Given the description of an element on the screen output the (x, y) to click on. 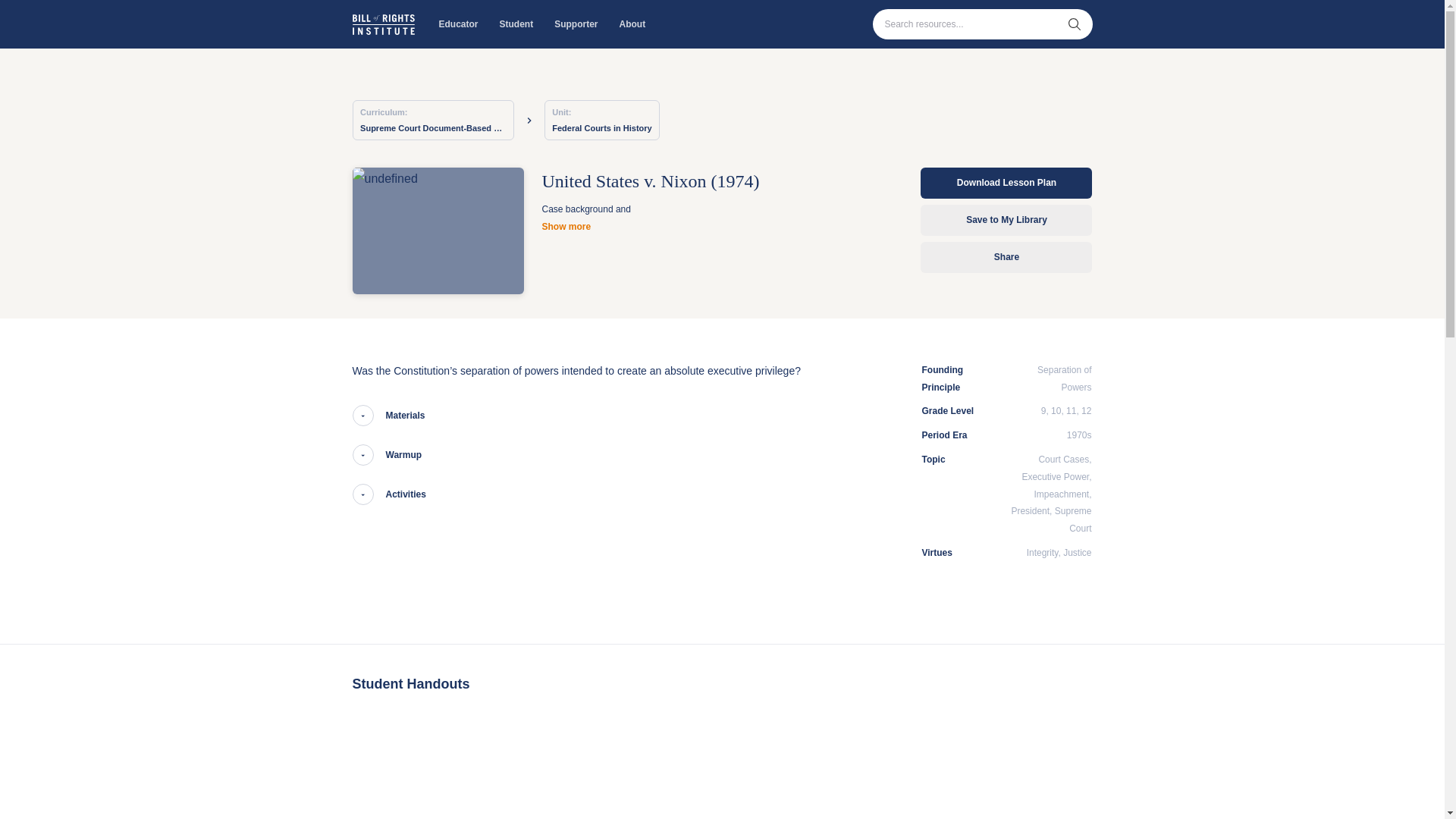
Student (516, 24)
Educator (457, 24)
Submit Search Query. (1073, 24)
